Given the description of an element on the screen output the (x, y) to click on. 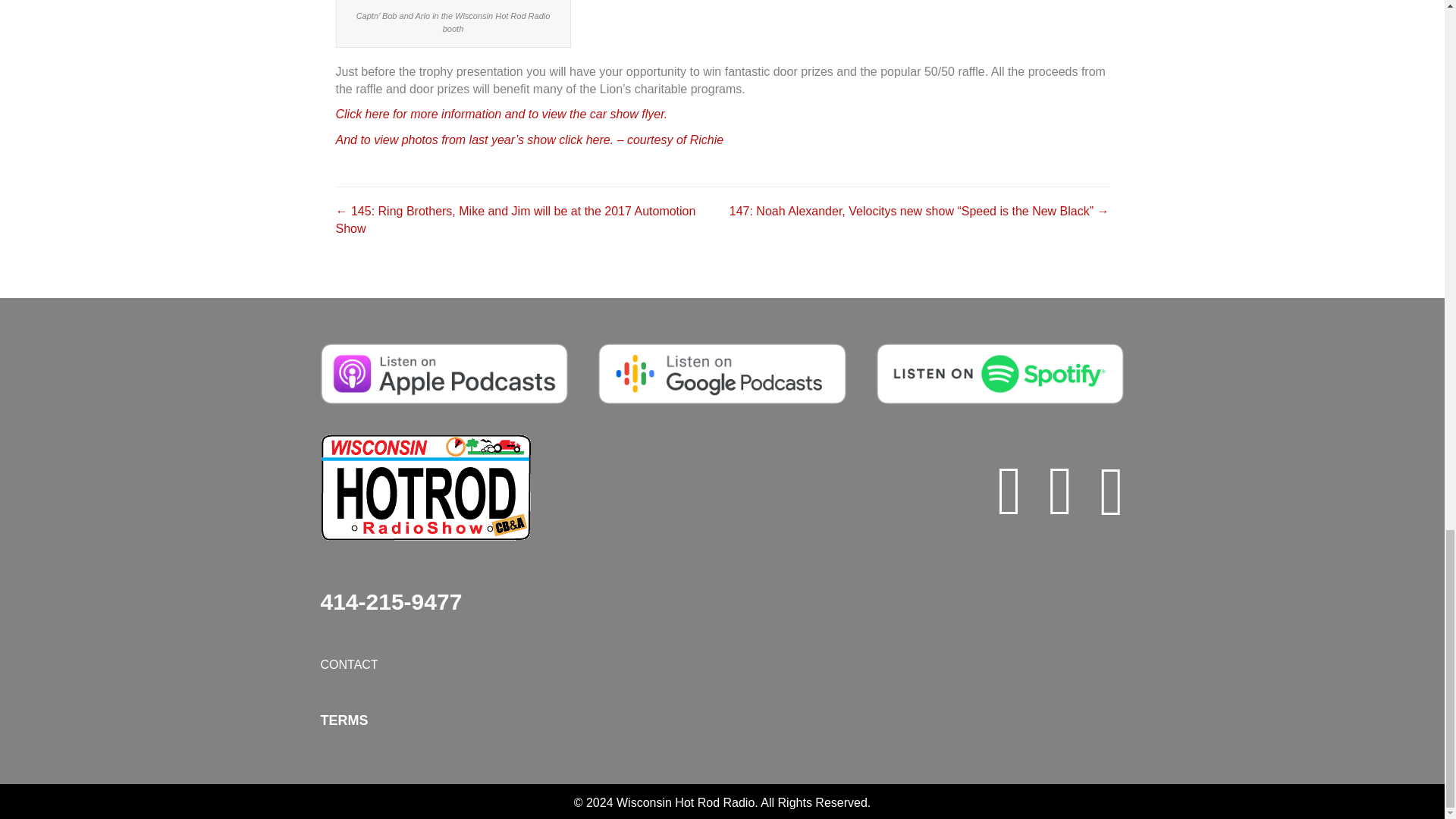
listen-on-spotify (1000, 373)
listen-on-google-podcasts (721, 373)
listen-on-apple-podcasts (443, 373)
